Given the description of an element on the screen output the (x, y) to click on. 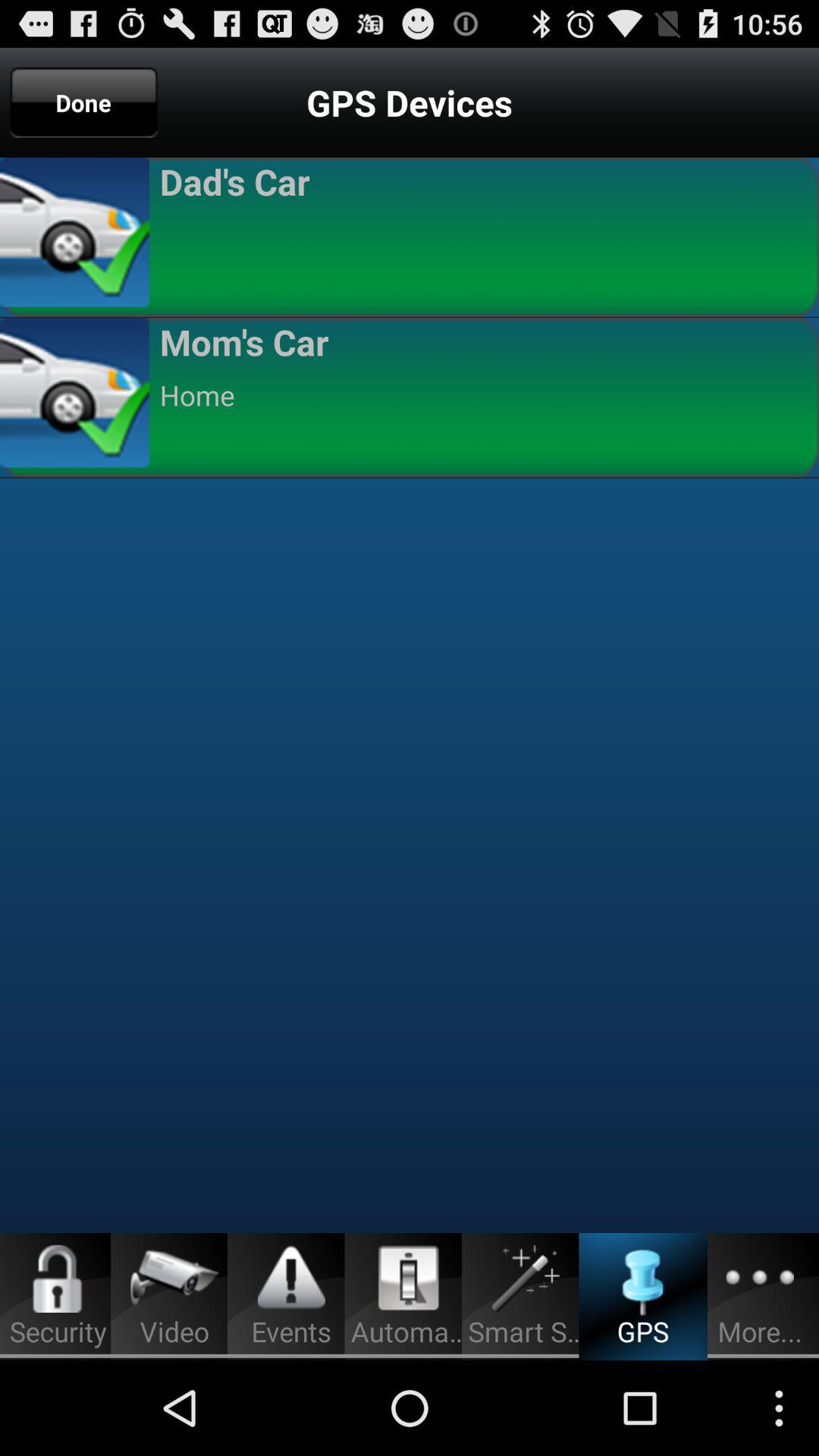
flip until home (481, 395)
